Given the description of an element on the screen output the (x, y) to click on. 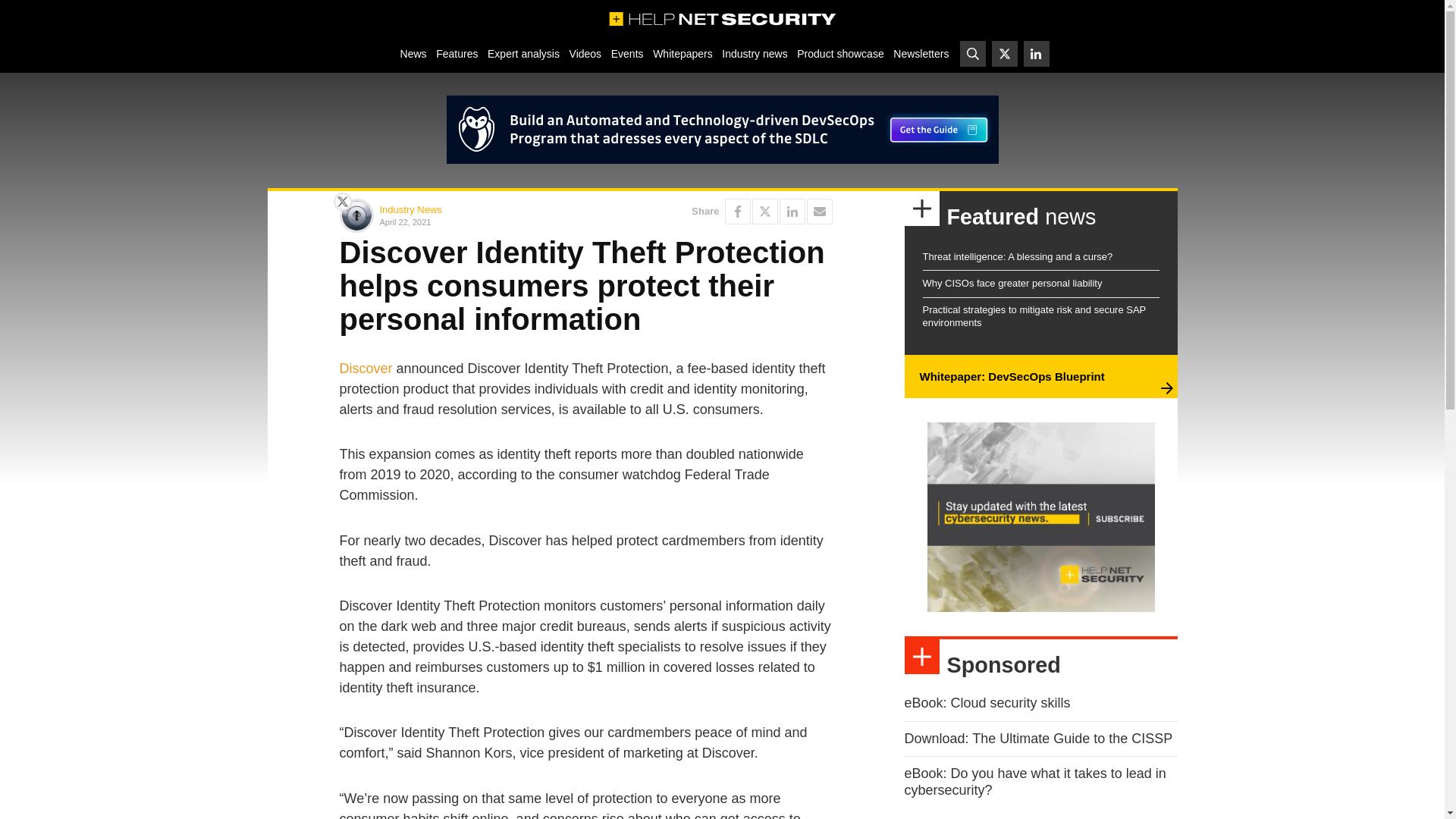
Product showcase (840, 53)
eBook: Cloud security skills (987, 702)
Why CISOs face greater personal liability (1011, 283)
Videos (584, 53)
Features (456, 53)
eBook: Do you have what it takes to lead in cybersecurity? (1035, 781)
Events (626, 53)
April 22, 2021 (478, 221)
Whitepaper: DevSecOps Blueprint (1010, 376)
Whitepapers (682, 53)
